Given the description of an element on the screen output the (x, y) to click on. 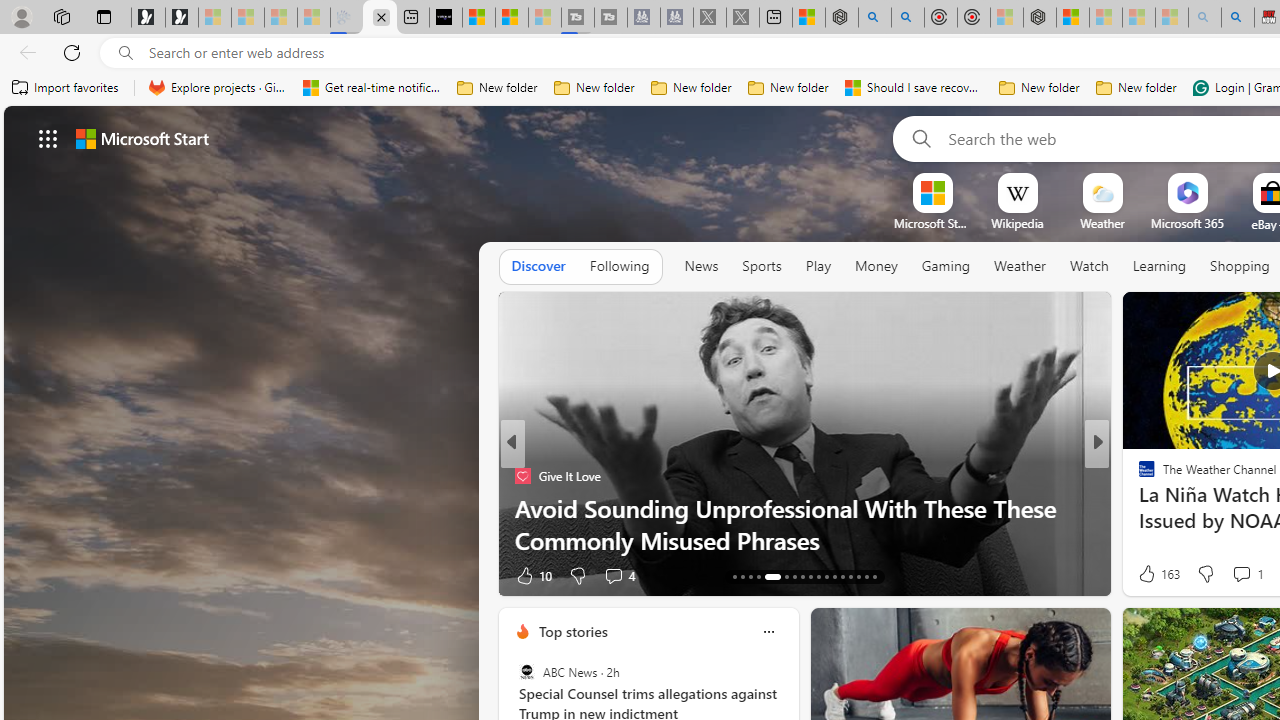
AutomationID: tab-21 (810, 576)
View comments 2 Comment (1234, 574)
AutomationID: tab-13 (733, 576)
View comments 124 Comment (1247, 574)
AutomationID: tab-25 (842, 576)
AutomationID: tab-18 (782, 576)
View comments 18 Comment (11, 575)
163 Like (1157, 574)
Alternet (1138, 475)
